Given the description of an element on the screen output the (x, y) to click on. 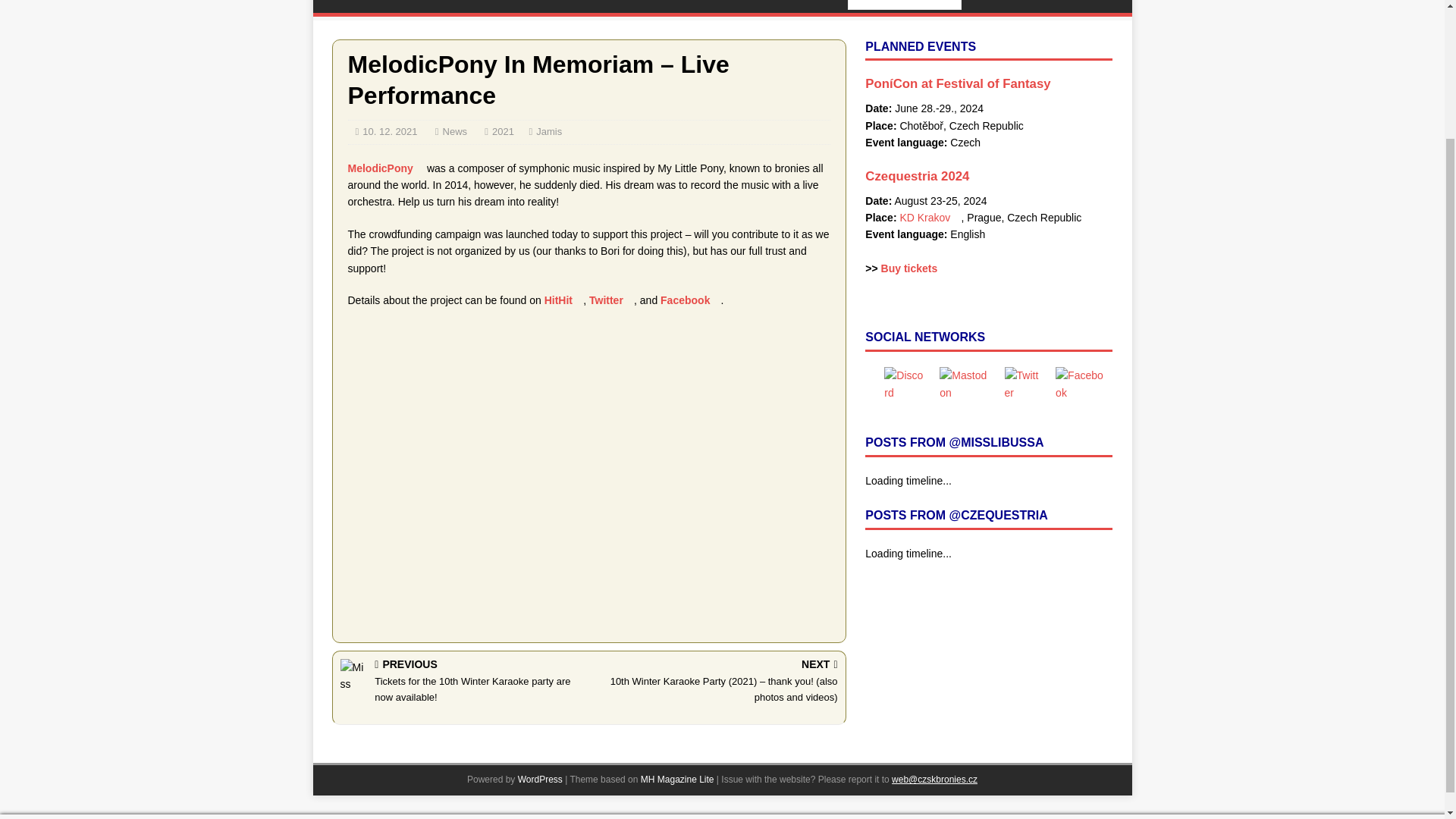
KD Krakov (929, 217)
2021 (502, 131)
LINKS (651, 6)
Buy tickets (914, 268)
HOME (343, 6)
News (454, 131)
HitHit (563, 300)
WordPress (540, 778)
